Given the description of an element on the screen output the (x, y) to click on. 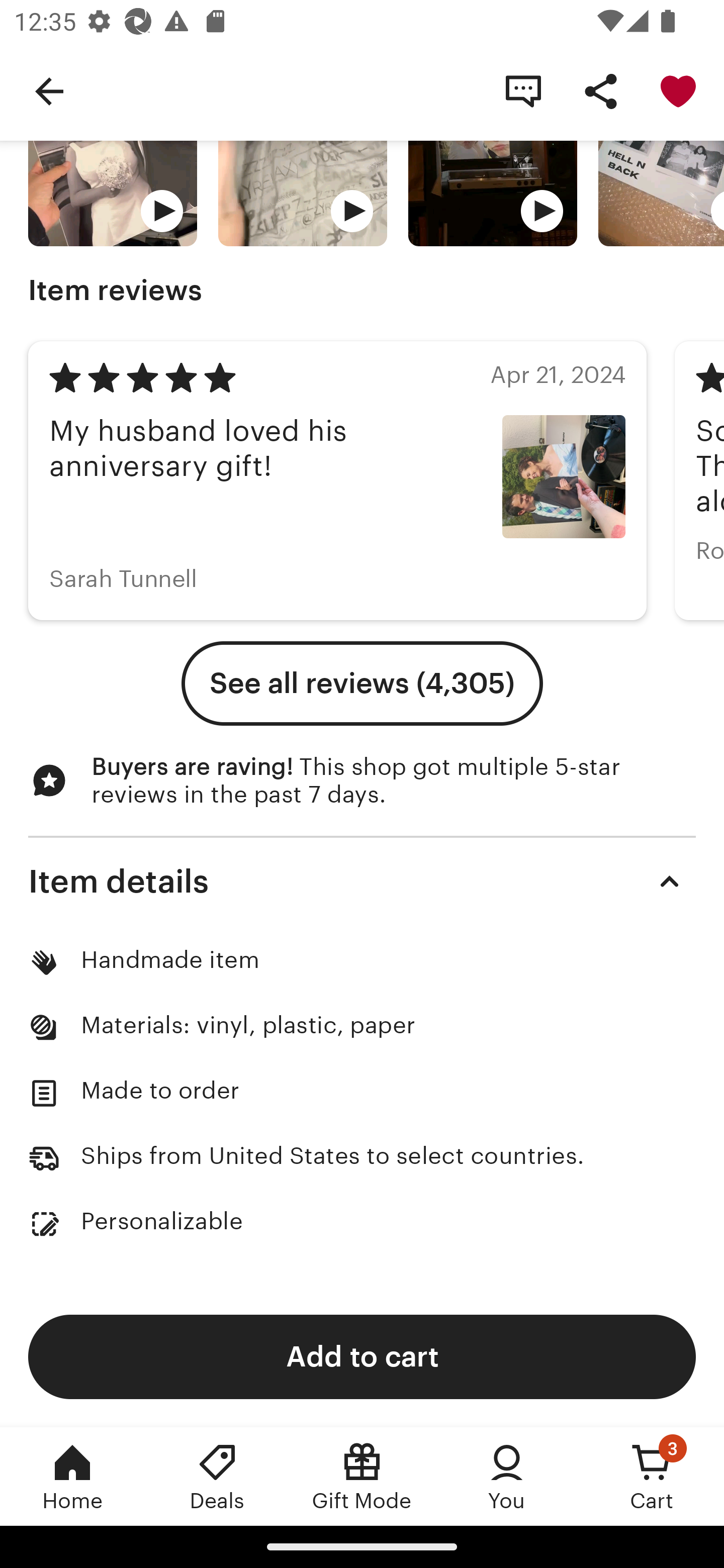
Navigate up (49, 90)
Contact shop (523, 90)
Share (600, 90)
See all reviews (4,305) (362, 683)
Item details (362, 880)
Add to cart (361, 1355)
Deals (216, 1475)
Gift Mode (361, 1475)
You (506, 1475)
Cart, 3 new notifications Cart (651, 1475)
